Given the description of an element on the screen output the (x, y) to click on. 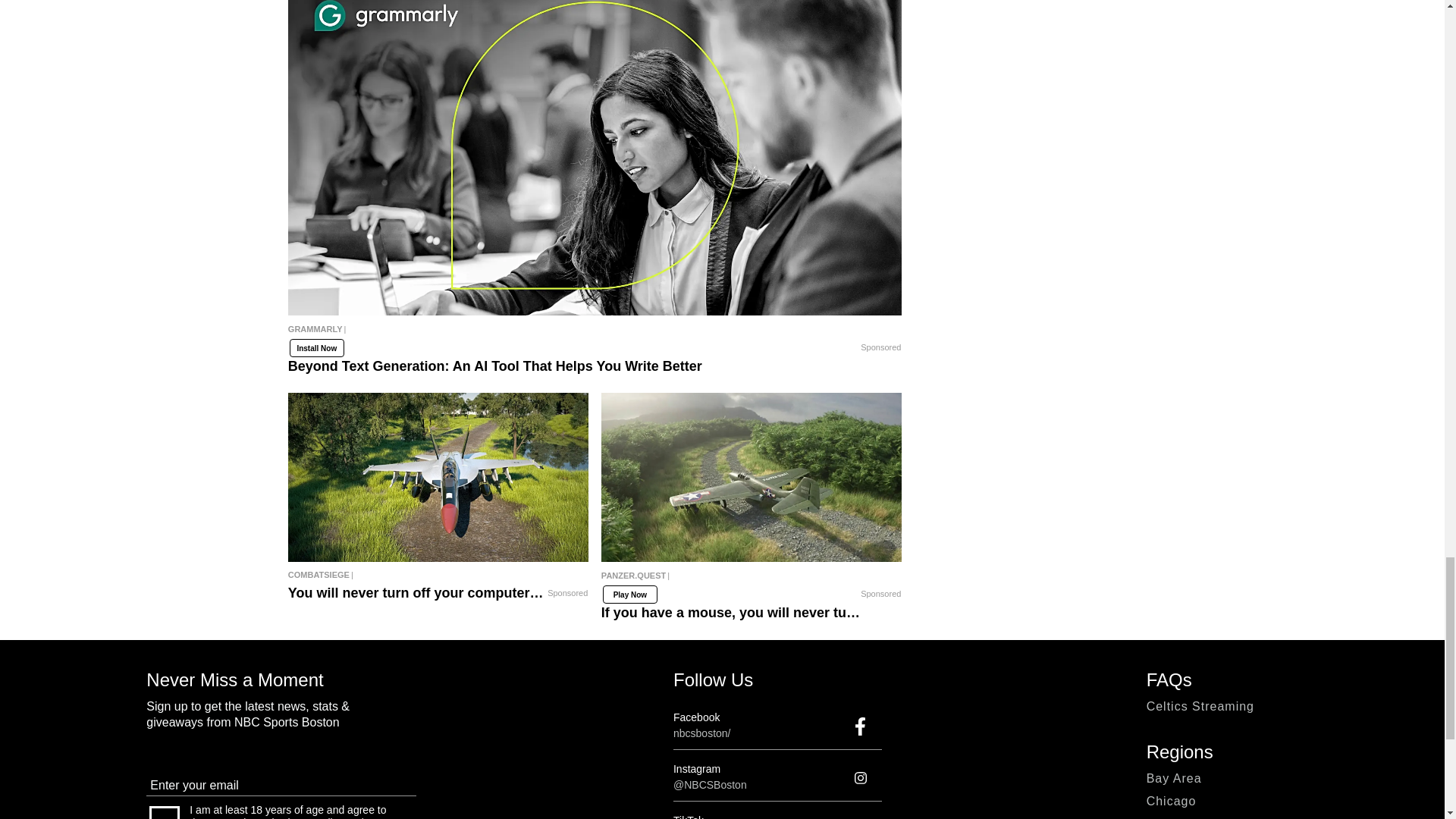
on (164, 812)
